Given the description of an element on the screen output the (x, y) to click on. 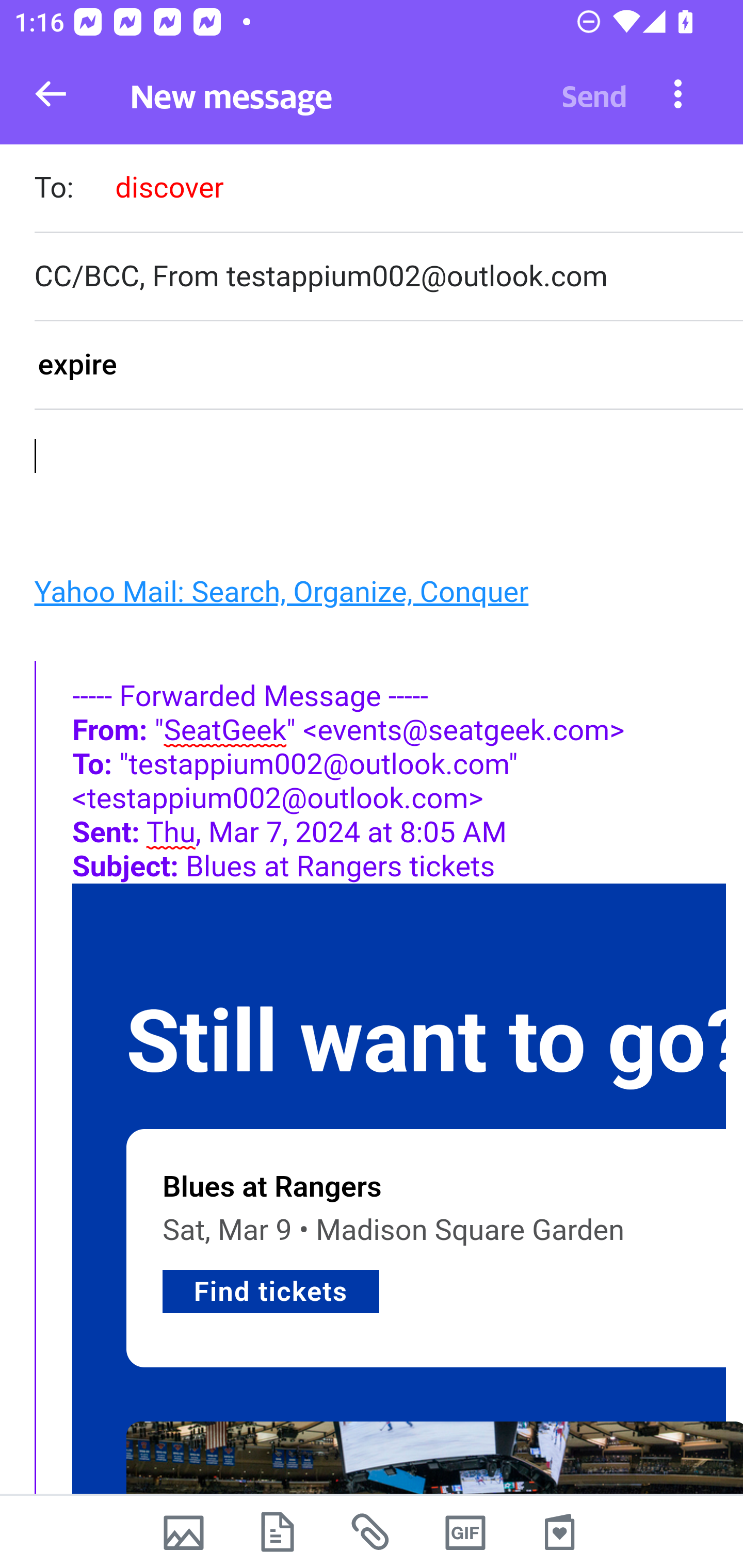
Back (50, 93)
Send (594, 93)
More options (677, 93)
To: discover (387, 189)
discover (169, 187)
CC/BCC, From testappium002@outlook.com (387, 276)
expire (387, 365)
Yahoo Mail: Search, Organize, Conquer (280, 591)
Still want to go? (434, 1041)
Blues at Rangers (272, 1186)
Find tickets (271, 1290)
Camera photos (183, 1531)
Device files (277, 1531)
Recent attachments from mail (371, 1531)
GIFs (465, 1531)
Stationery (559, 1531)
